Given the description of an element on the screen output the (x, y) to click on. 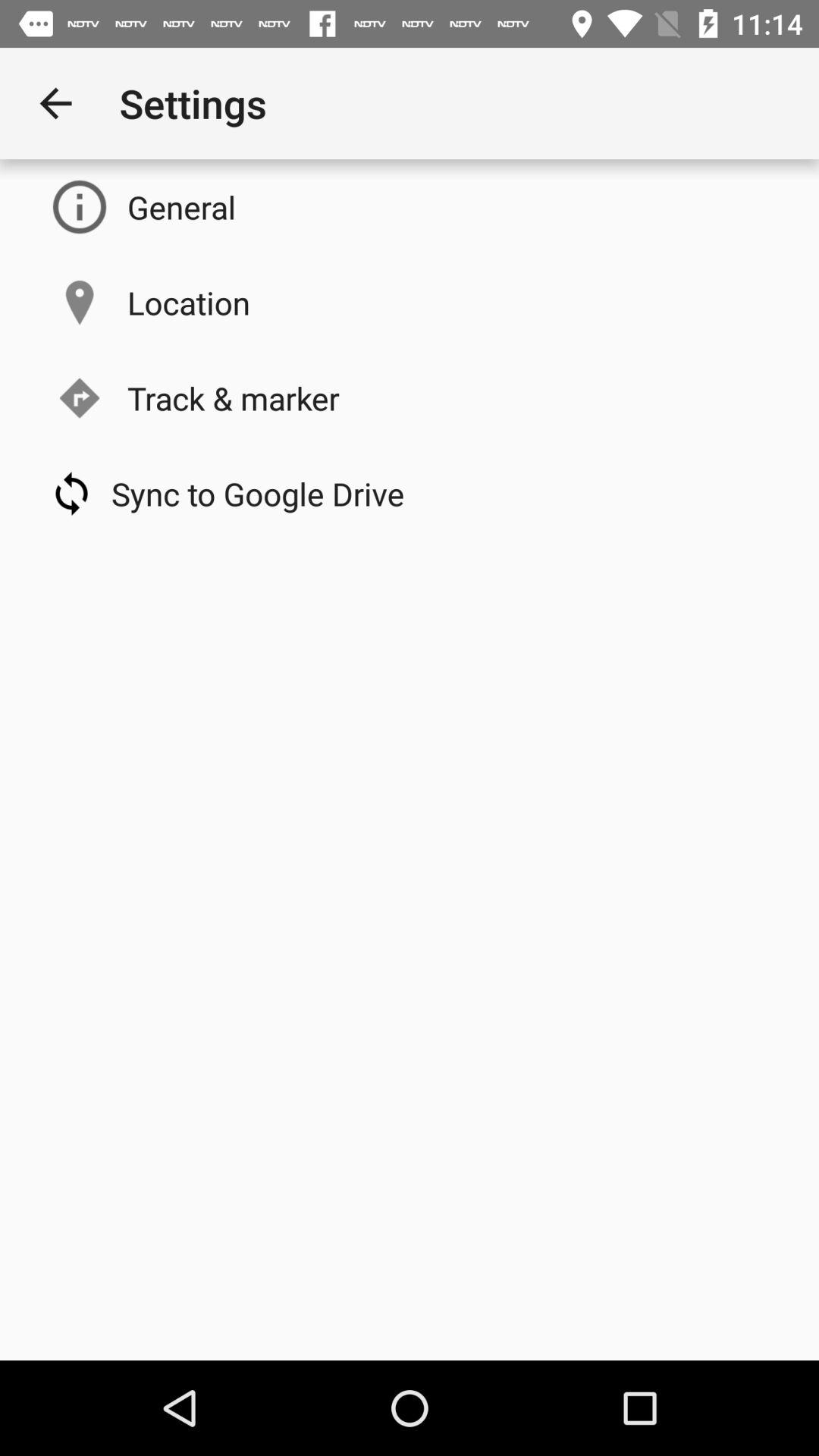
swipe until the general item (181, 206)
